Given the description of an element on the screen output the (x, y) to click on. 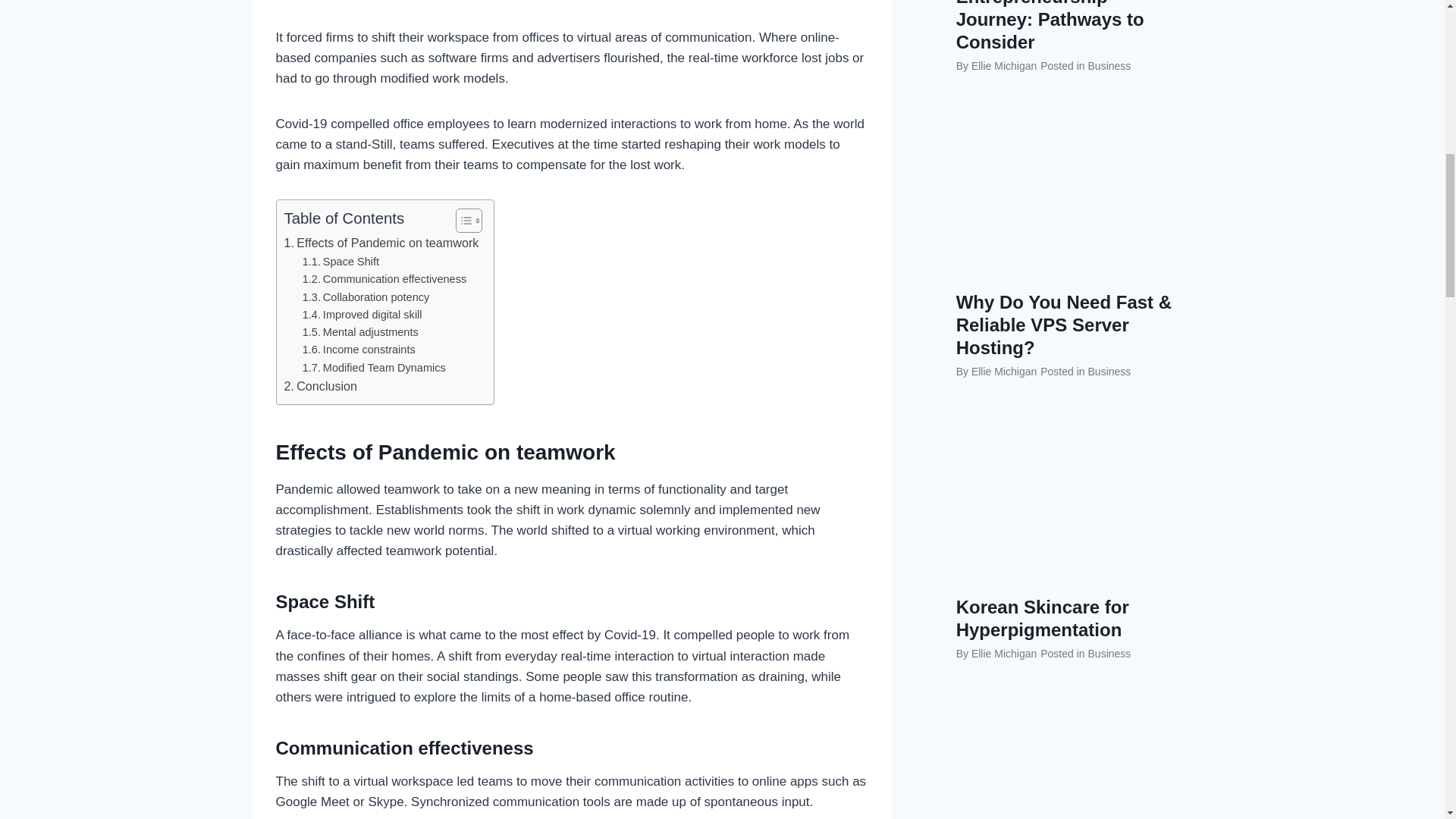
Communication effectiveness (383, 279)
Modified Team Dynamics (373, 367)
Income constraints (358, 349)
Improved digital skill (362, 314)
Income constraints (358, 349)
Conclusion (319, 386)
Modified Team Dynamics (373, 367)
Effects of Pandemic on teamwork (381, 243)
Collaboration potency (365, 297)
Space Shift (340, 262)
